Given the description of an element on the screen output the (x, y) to click on. 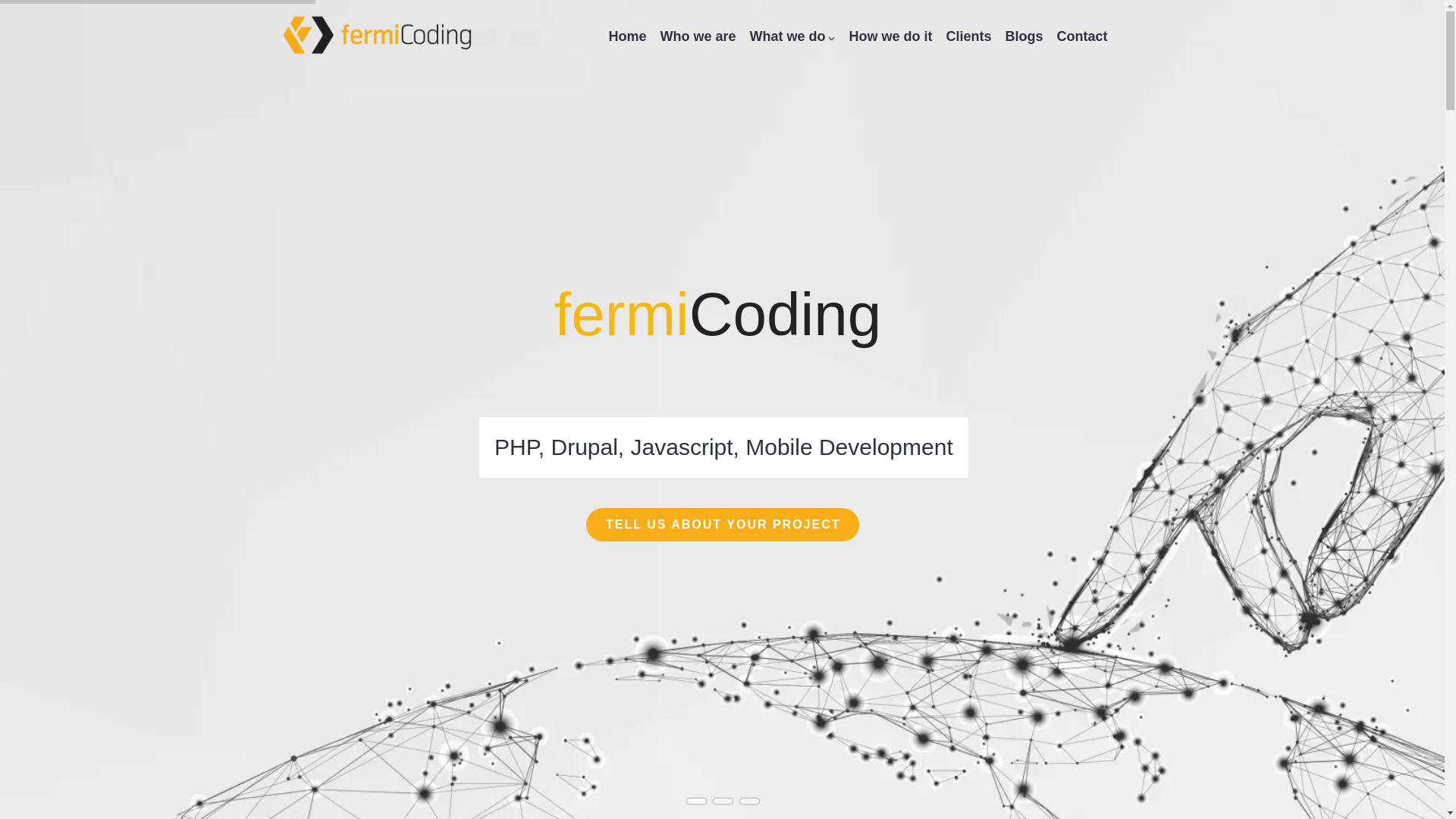
Contact (1082, 35)
Blogs (1023, 35)
Who we are (697, 35)
What we do (791, 35)
How we do it (889, 35)
TELL US ABOUT YOUR PROJECT (722, 524)
Home (377, 32)
Clients (967, 35)
Home (627, 35)
